Given the description of an element on the screen output the (x, y) to click on. 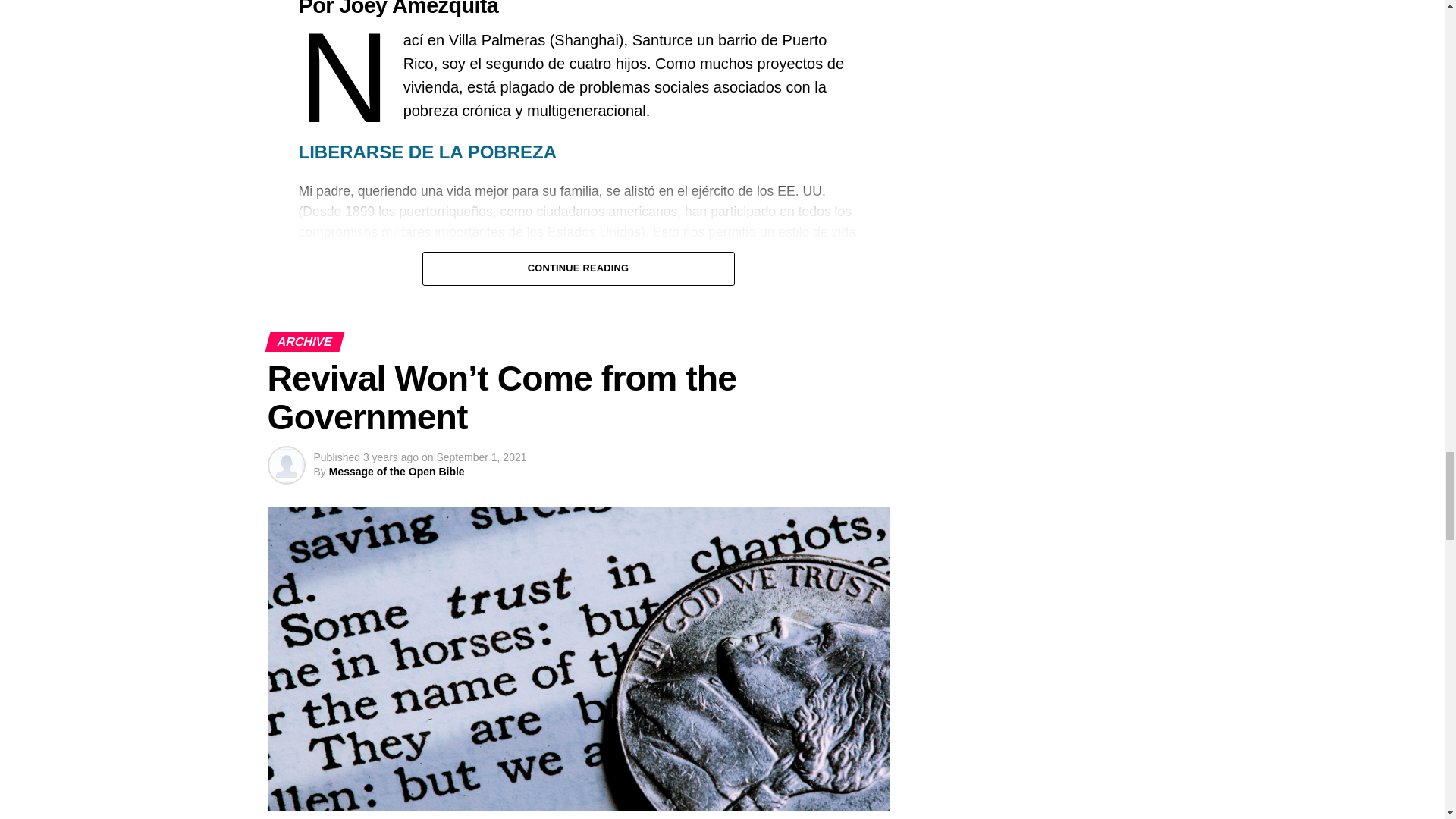
Posts by Message of the Open Bible (396, 471)
